Given the description of an element on the screen output the (x, y) to click on. 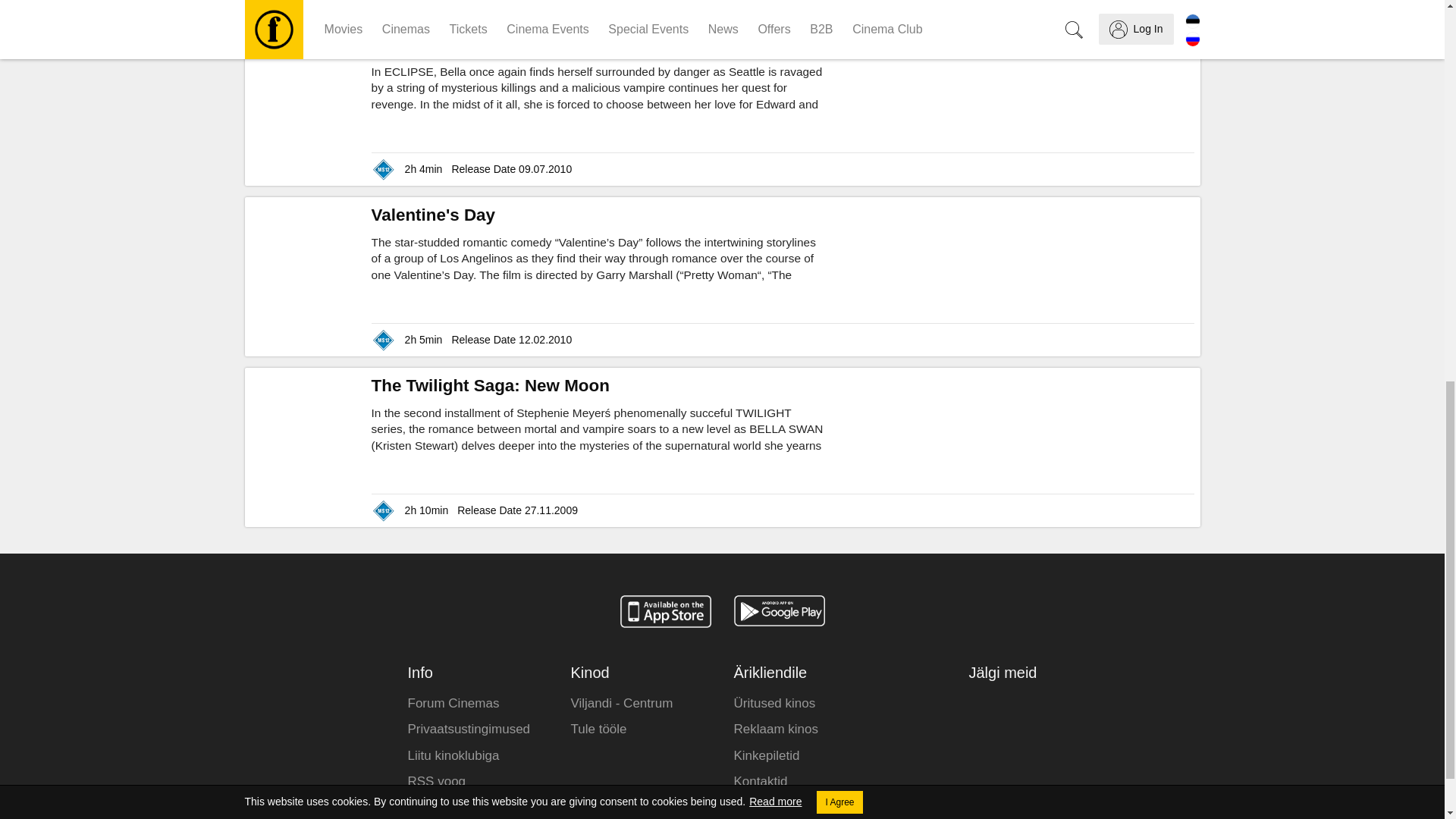
Under 12 Not Recommended (383, 510)
Under 12 Not Recommended (383, 340)
Under 12 Not Recommended (383, 4)
Under 12 Not Recommended (383, 169)
